Given the description of an element on the screen output the (x, y) to click on. 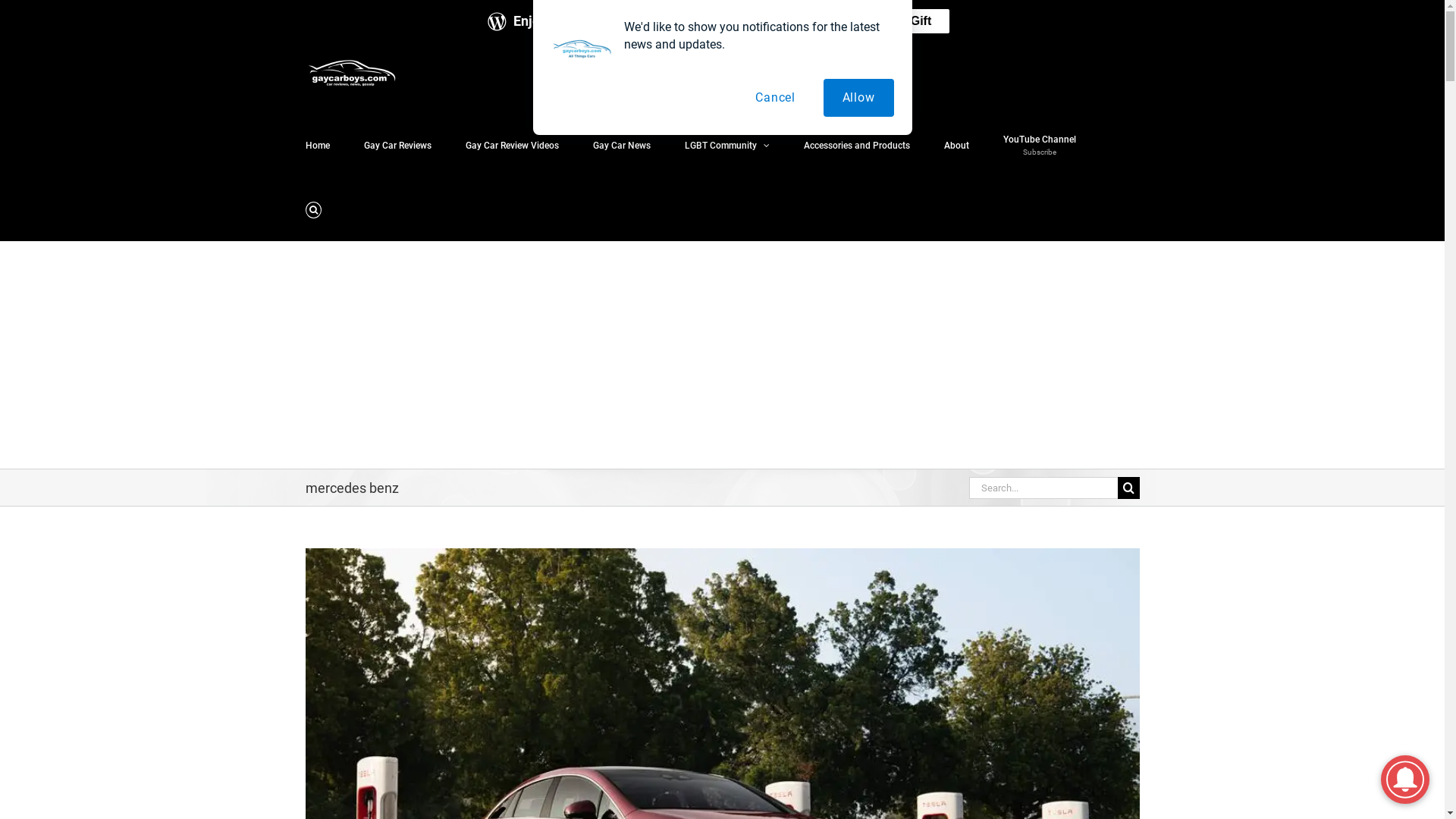
Gay Car News Element type: text (621, 144)
Home Element type: text (316, 144)
Cancel Element type: text (775, 97)
Accessories and Products Element type: text (856, 144)
About Element type: text (955, 144)
Allow Element type: text (858, 97)
Gay Car Review Videos Element type: text (511, 144)
Gay Car Reviews Element type: text (397, 144)
YouTube Channel
Subscribe Element type: text (1038, 144)
Advertisement Element type: hover (721, 354)
Search Element type: hover (312, 208)
LGBT Community Element type: text (726, 144)
Gift Element type: text (921, 21)
